Given the description of an element on the screen output the (x, y) to click on. 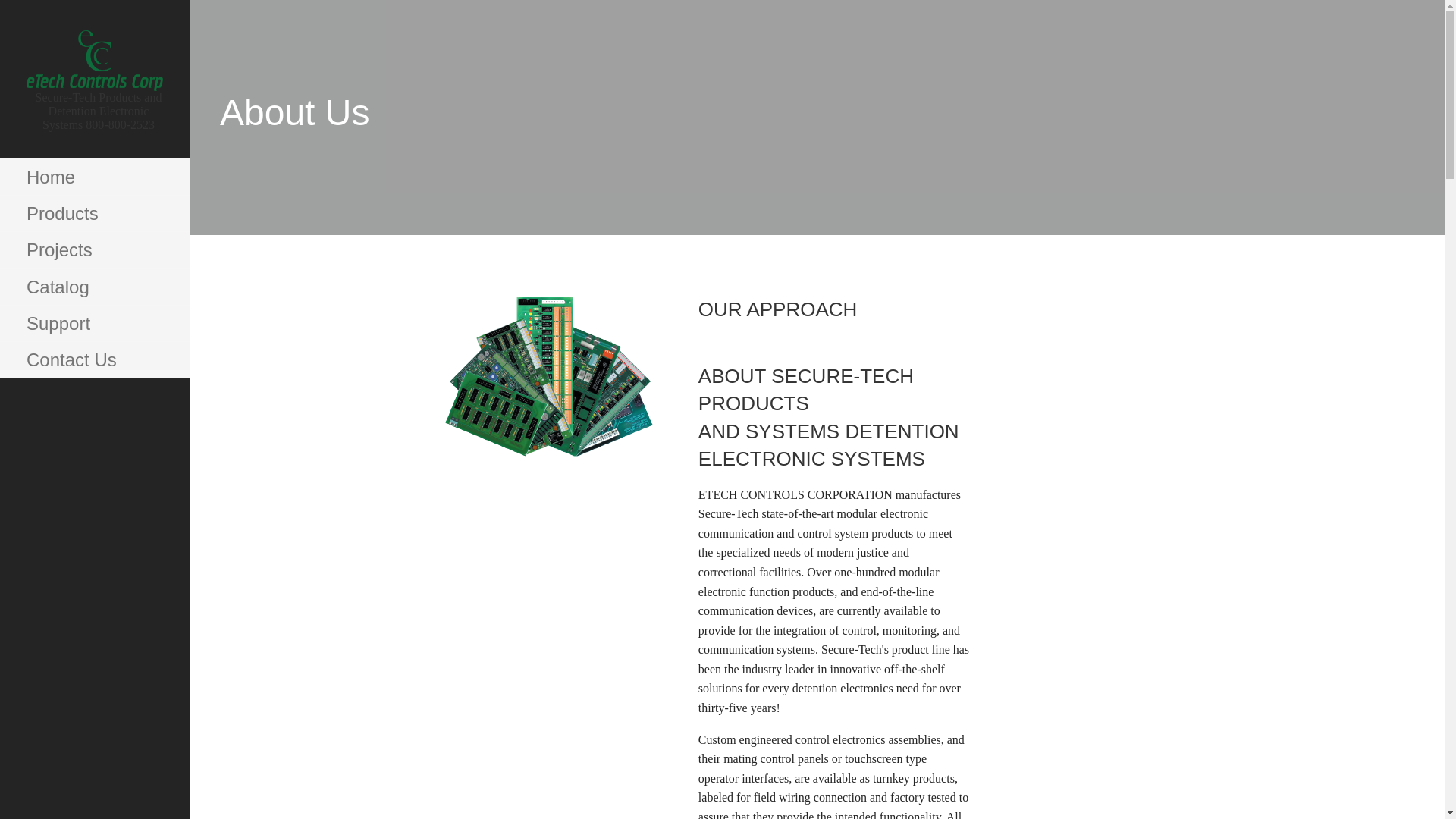
Catalog (94, 287)
Home (94, 176)
Fanned Boards3.psd (549, 375)
Projects (94, 249)
Support (94, 323)
Products (94, 213)
Contact Us (94, 360)
